Given the description of an element on the screen output the (x, y) to click on. 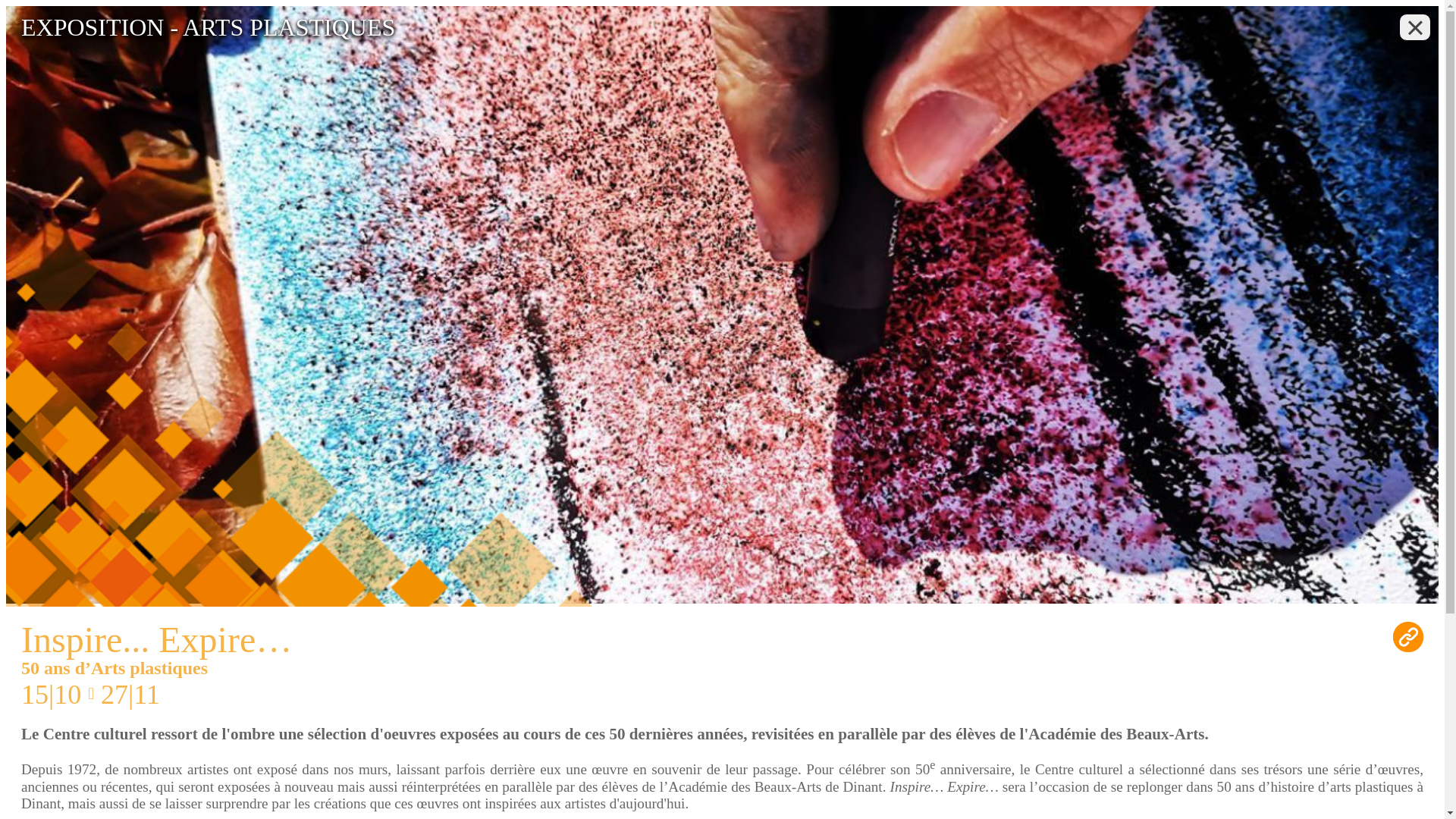
Cliquez pour copier le lien Element type: hover (1408, 636)
